Given the description of an element on the screen output the (x, y) to click on. 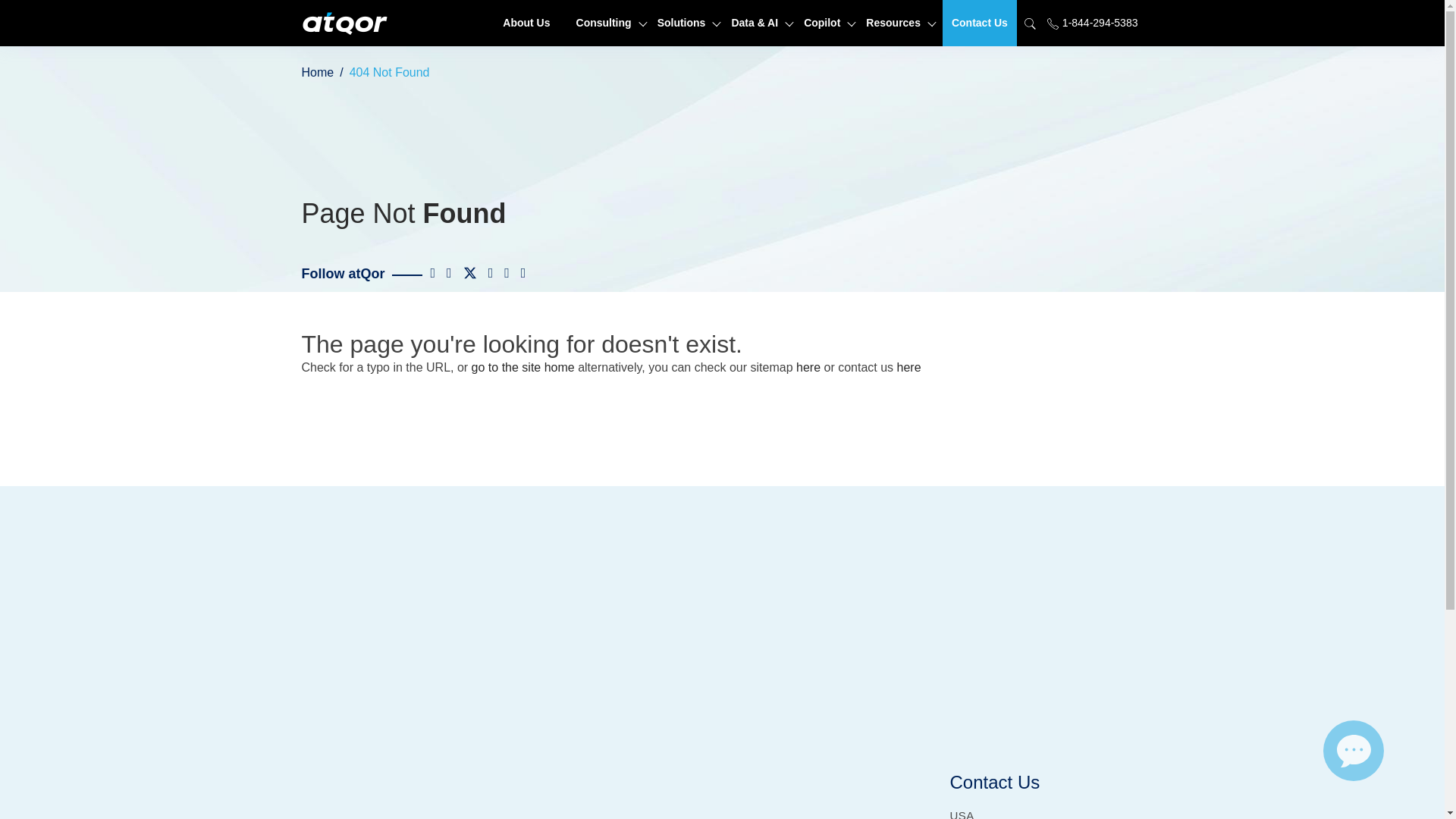
Email (1353, 750)
Consulting (603, 22)
Copilot (821, 22)
About Us (526, 22)
Resources (893, 22)
Solutions (680, 22)
Home (523, 367)
Contact Bitscape (908, 367)
Sitemap (808, 367)
